Given the description of an element on the screen output the (x, y) to click on. 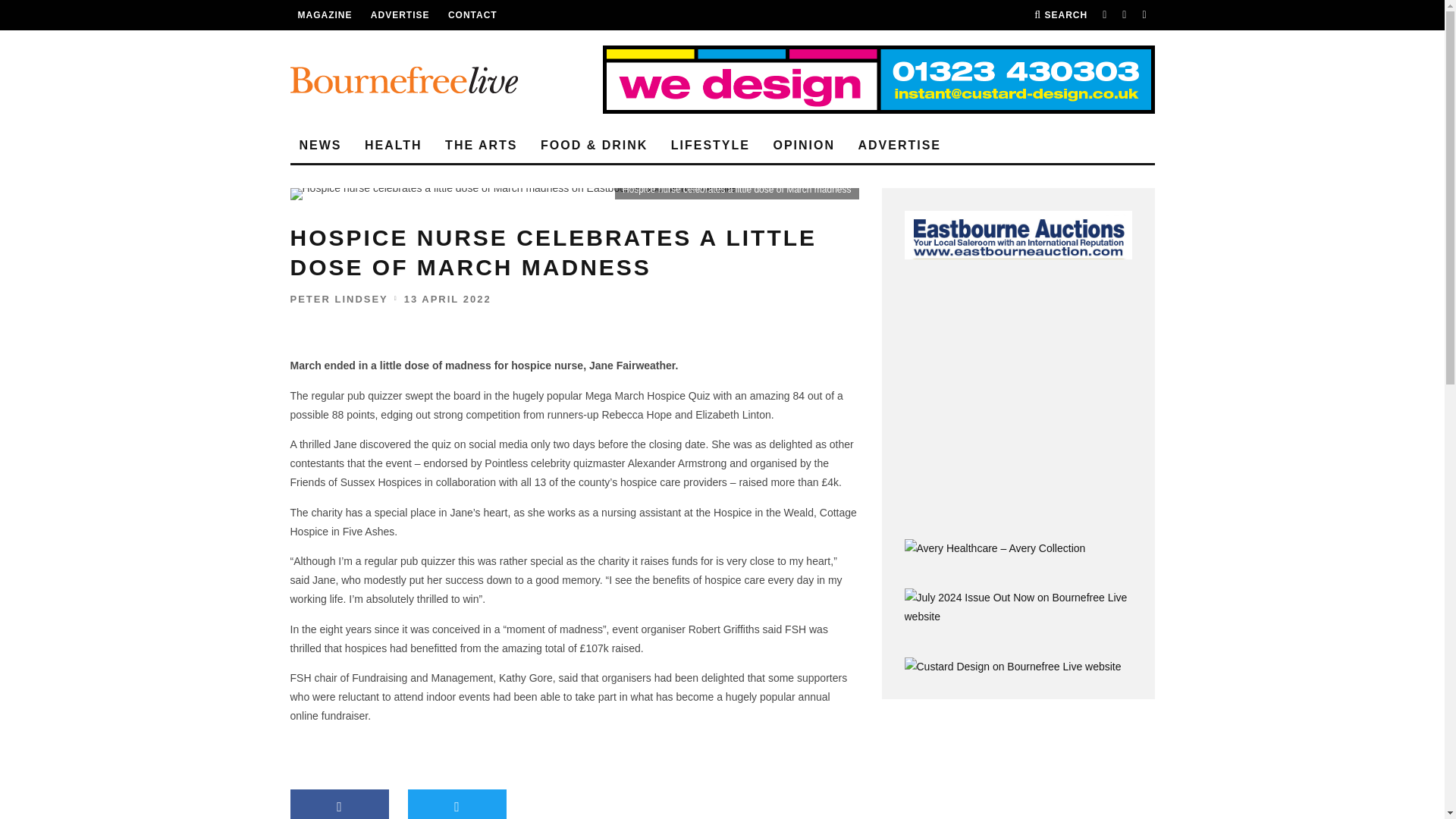
SEARCH (1060, 15)
ADVERTISE (899, 145)
Search (1060, 15)
MAGAZINE (324, 15)
LIFESTYLE (710, 145)
ADVERTISE (400, 15)
Log In (721, 409)
CONTACT (472, 15)
HEALTH (392, 145)
NEWS (319, 145)
OPINION (803, 145)
THE ARTS (480, 145)
PETER LINDSEY (338, 298)
